Given the description of an element on the screen output the (x, y) to click on. 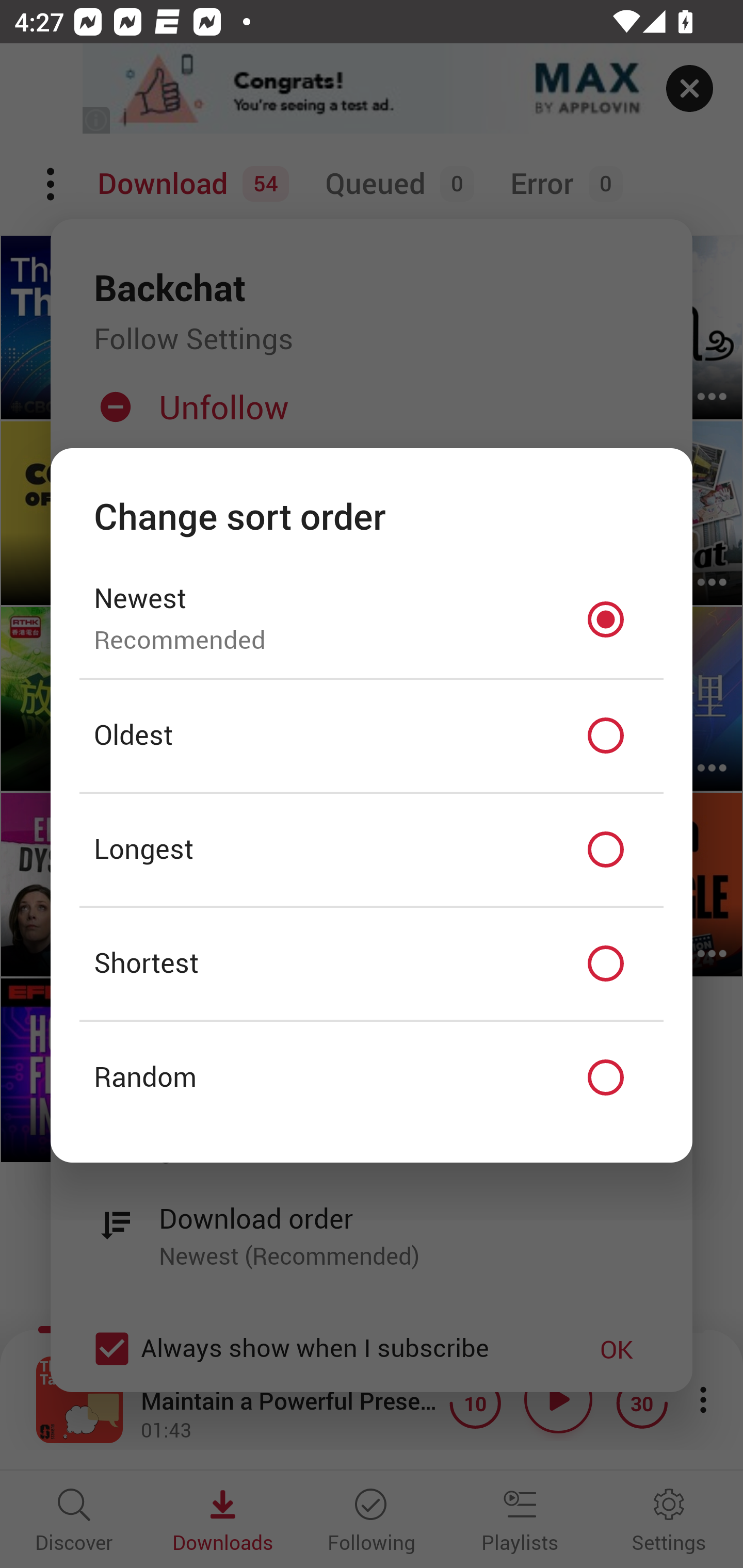
Newest Recommended (371, 619)
Oldest (371, 735)
Longest (371, 849)
Shortest (371, 963)
Random (371, 1077)
